Given the description of an element on the screen output the (x, y) to click on. 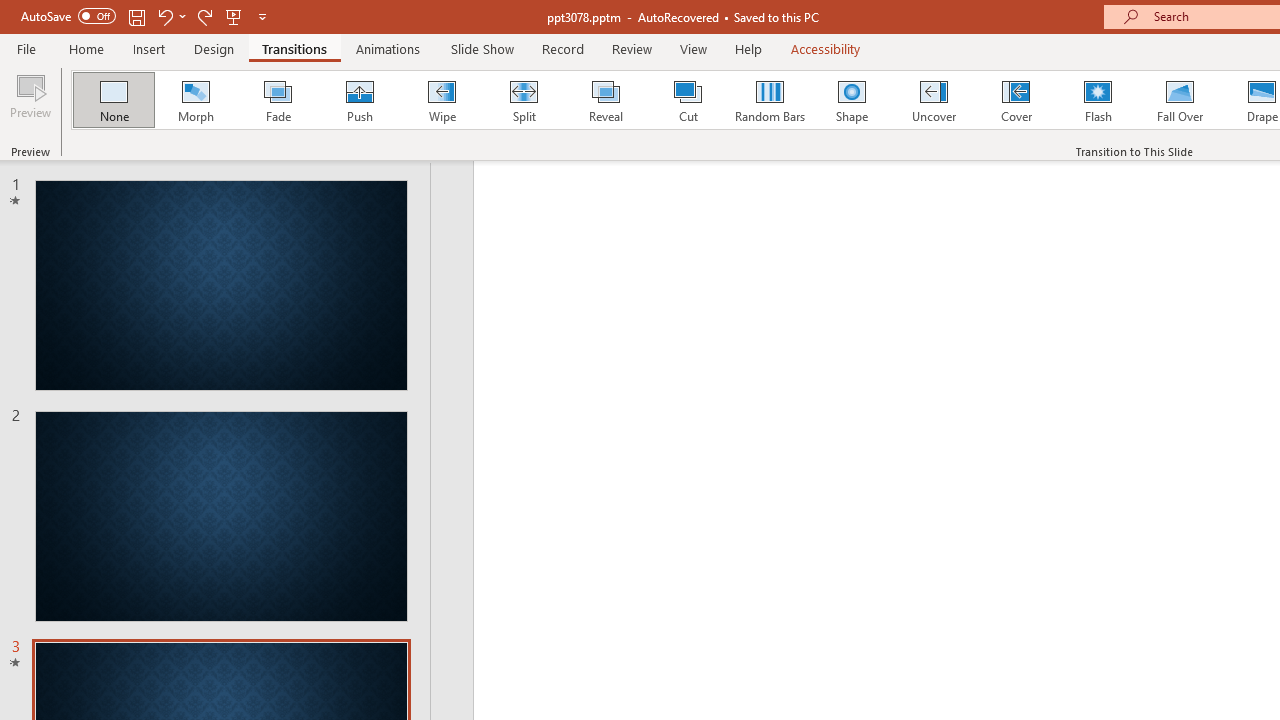
Random Bars (770, 100)
Shape (852, 100)
None (113, 100)
Push (359, 100)
